Given the description of an element on the screen output the (x, y) to click on. 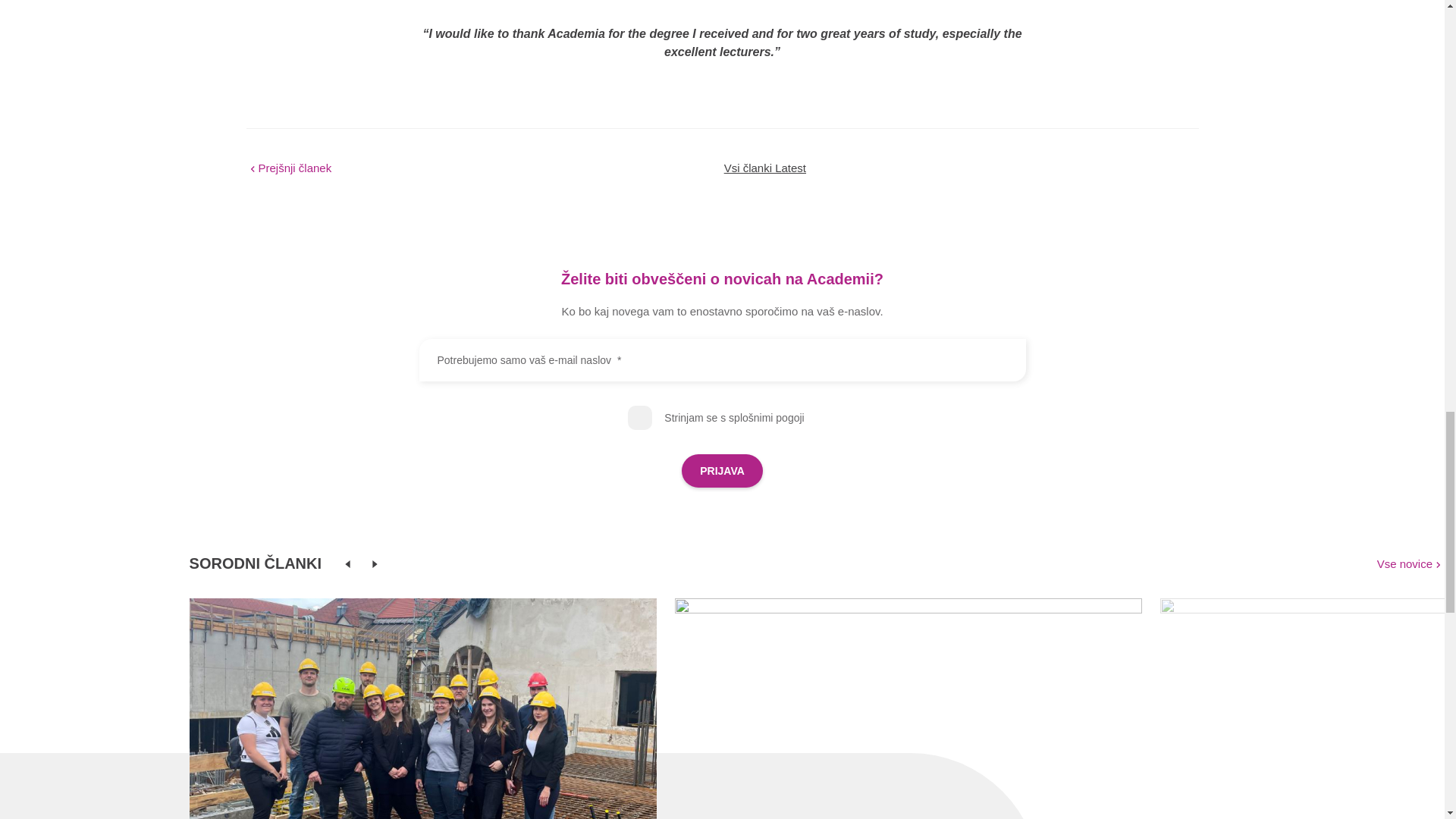
Prijava (721, 470)
